Given the description of an element on the screen output the (x, y) to click on. 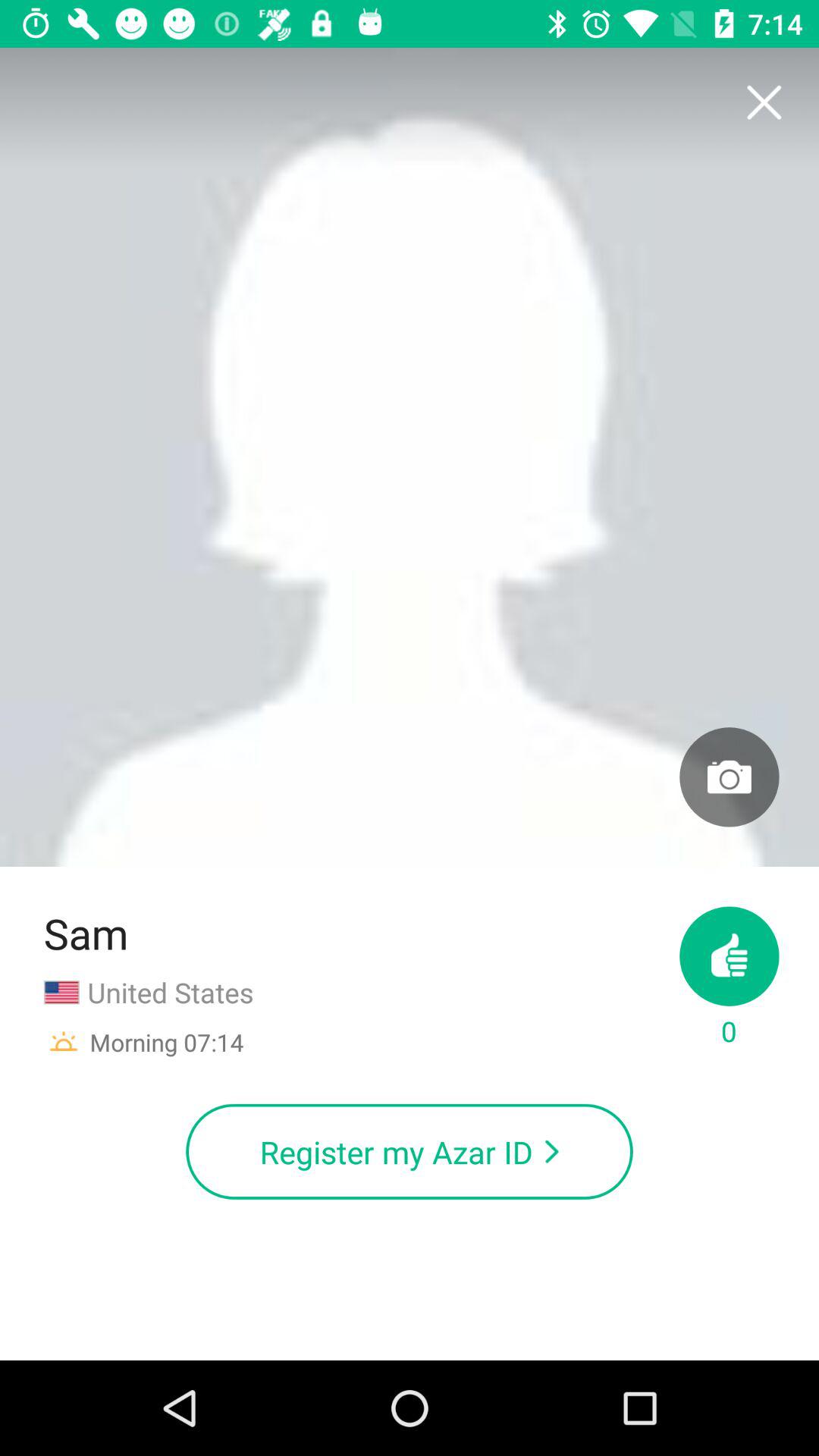
turn off the item next to the united states item (729, 977)
